Given the description of an element on the screen output the (x, y) to click on. 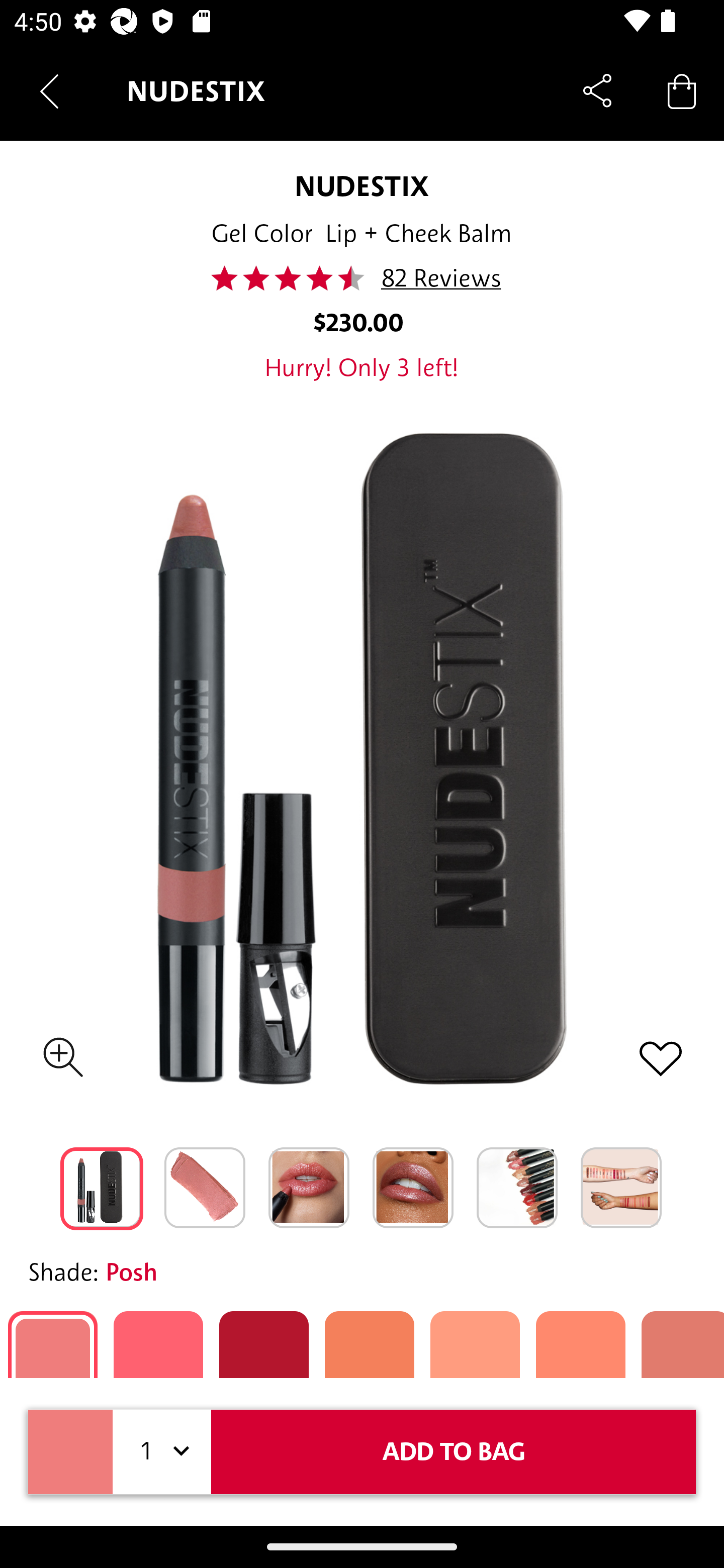
Navigate up (49, 91)
Share (597, 90)
Bag (681, 90)
NUDESTIX (361, 186)
45.0 82 Reviews (361, 278)
1 (161, 1451)
ADD TO BAG (453, 1451)
